Given the description of an element on the screen output the (x, y) to click on. 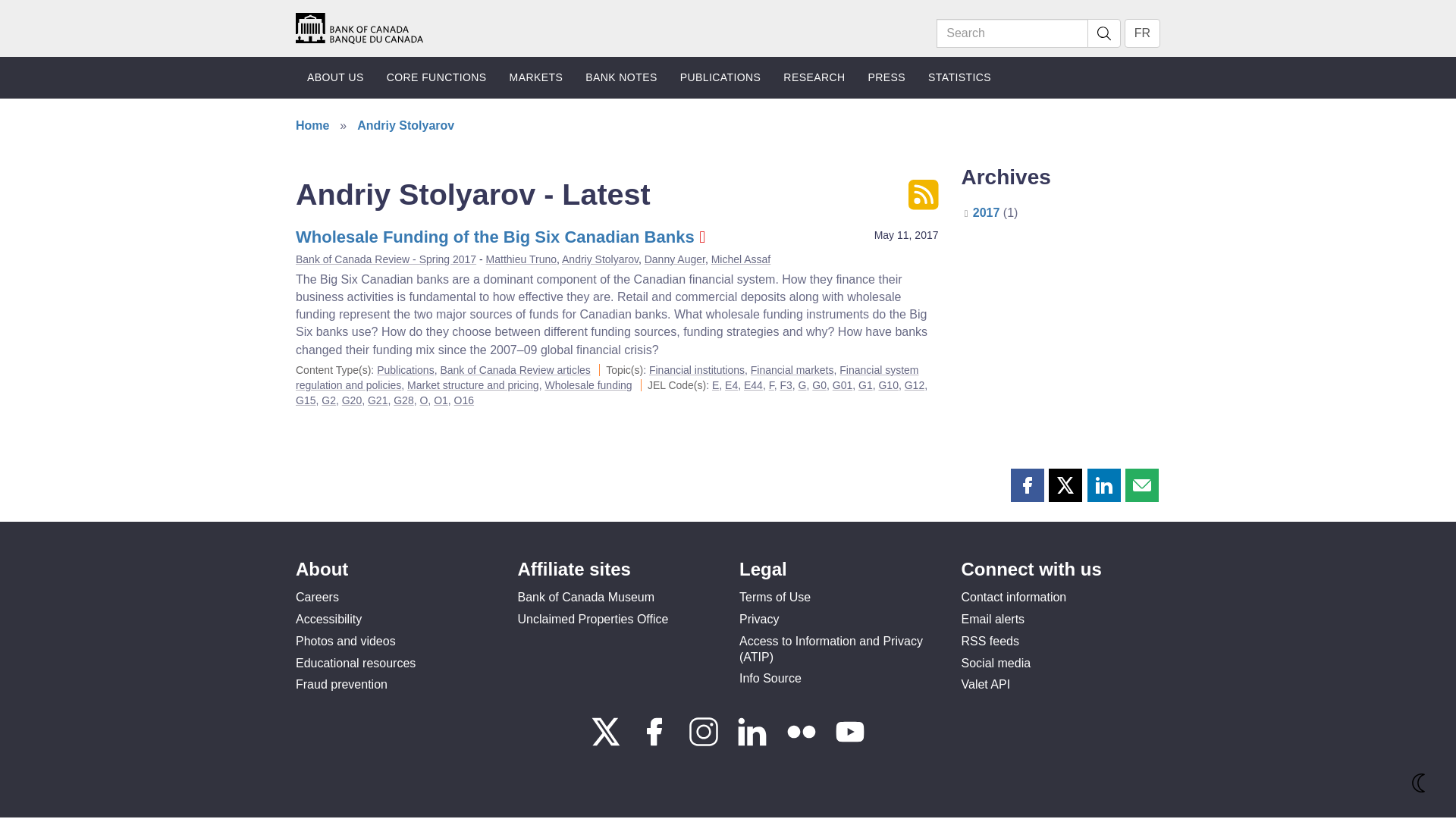
Money and Interest Rates (731, 385)
CORE FUNCTIONS (436, 77)
Search (1104, 32)
Search (1011, 32)
International Finance (785, 385)
ABOUT US (335, 77)
Home (359, 27)
MARKETS (536, 77)
Home (359, 28)
Financial Markets and the Macroeconomy (753, 385)
